Given the description of an element on the screen output the (x, y) to click on. 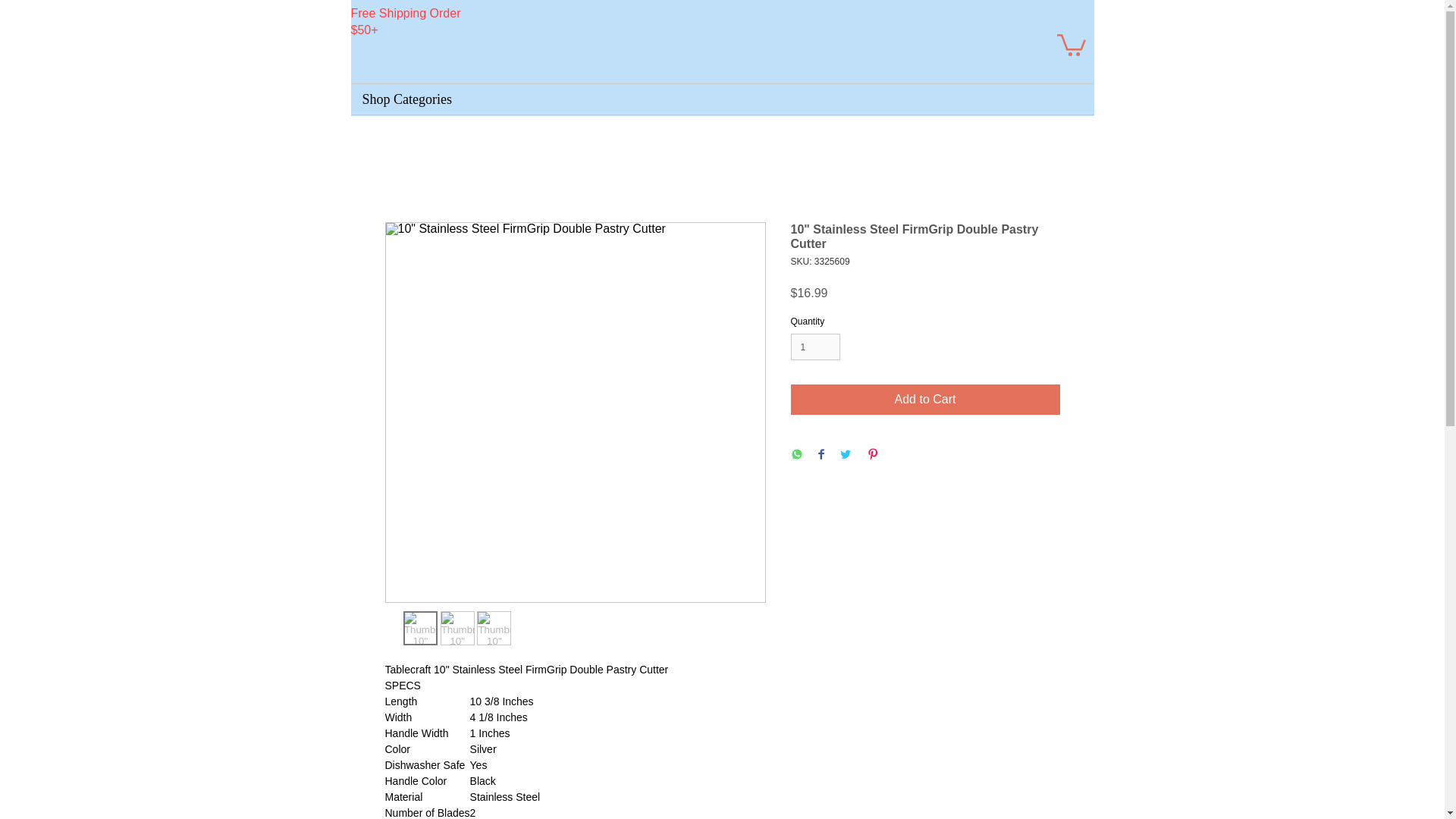
1 (815, 346)
Add to Cart (924, 399)
Shop Categories (721, 99)
